Given the description of an element on the screen output the (x, y) to click on. 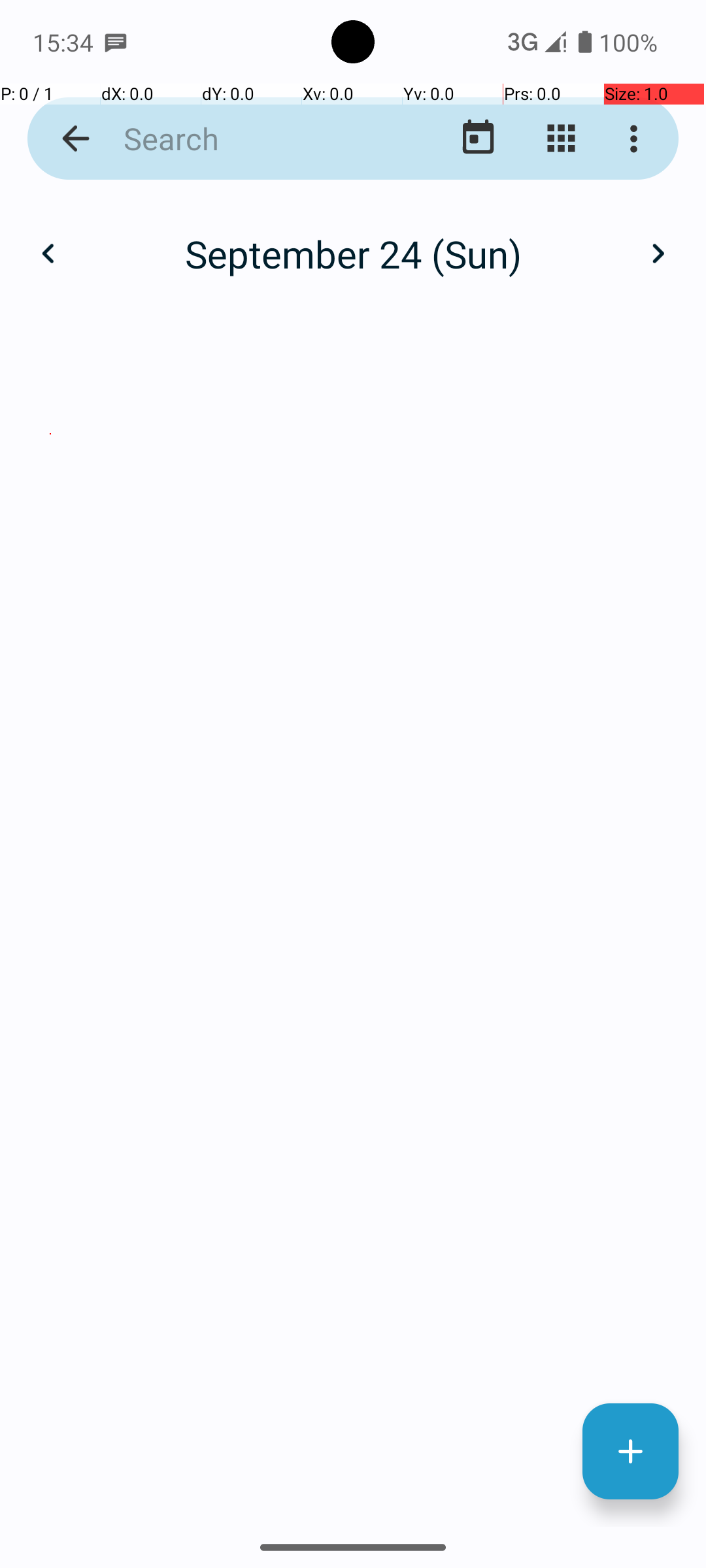
September 24 (Sun) Element type: android.widget.TextView (352, 253)
